Given the description of an element on the screen output the (x, y) to click on. 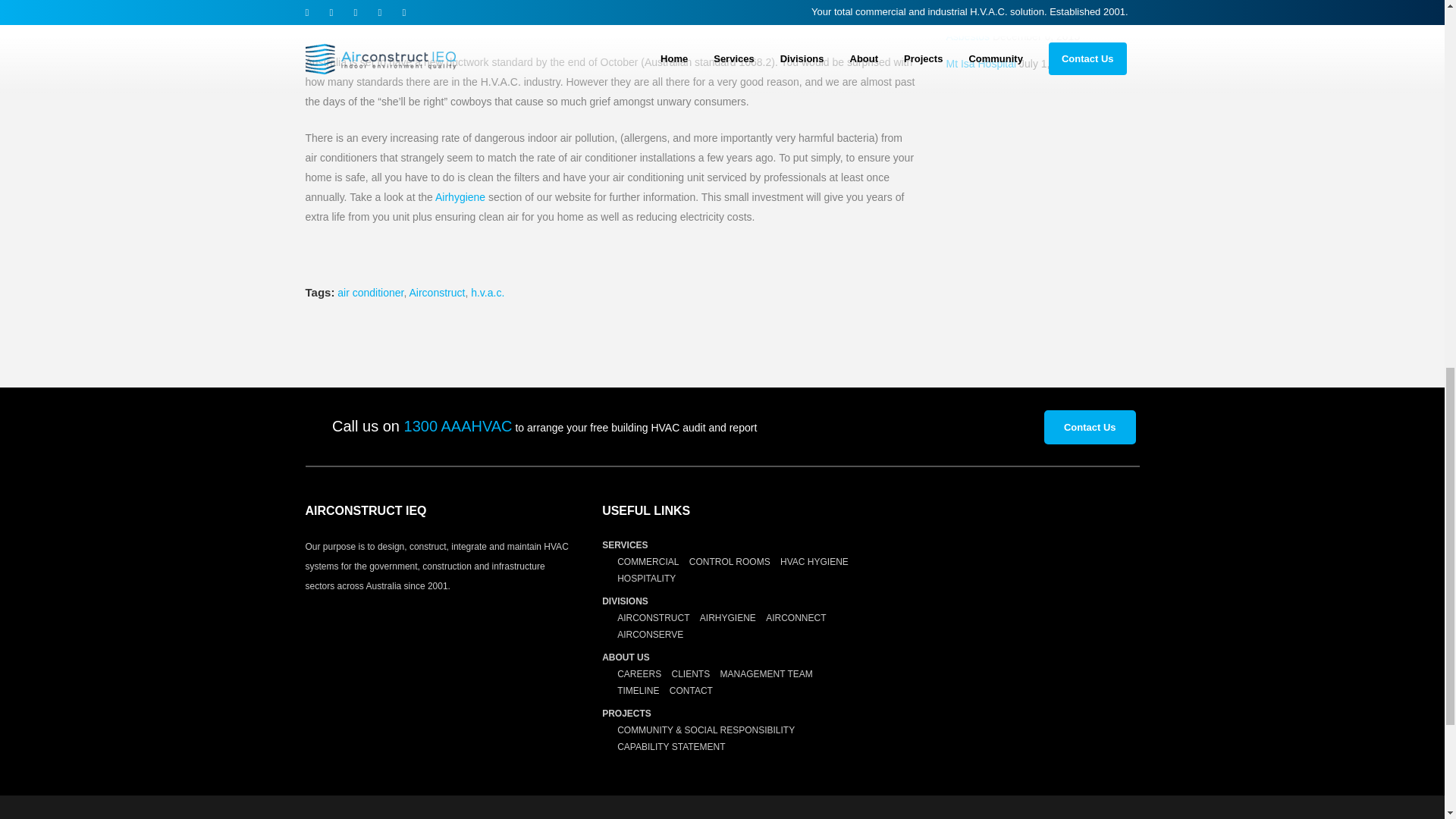
Airhygiene (459, 196)
